Given the description of an element on the screen output the (x, y) to click on. 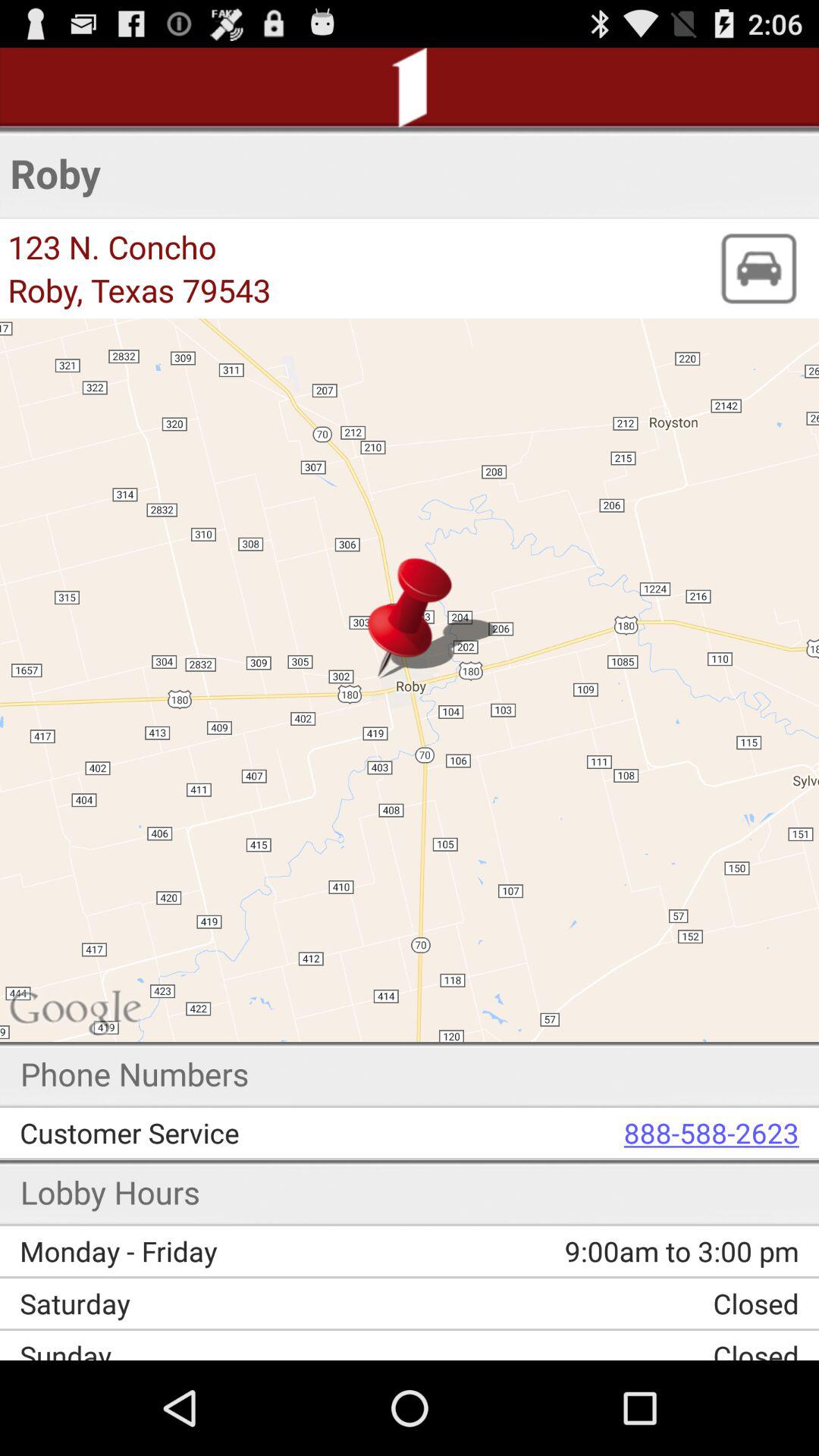
select the icon to the left of the closed icon (220, 1303)
